Given the description of an element on the screen output the (x, y) to click on. 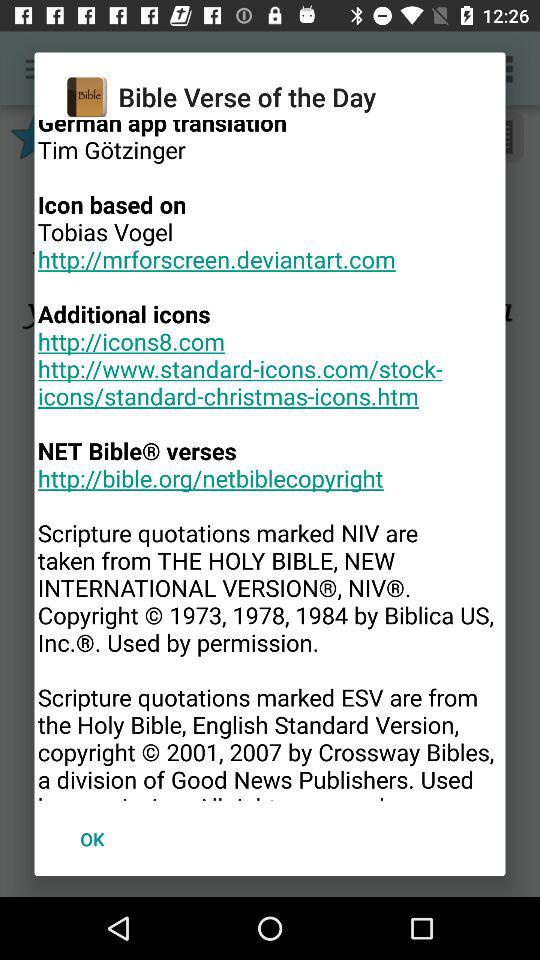
scroll until version 10 85 app (269, 460)
